Given the description of an element on the screen output the (x, y) to click on. 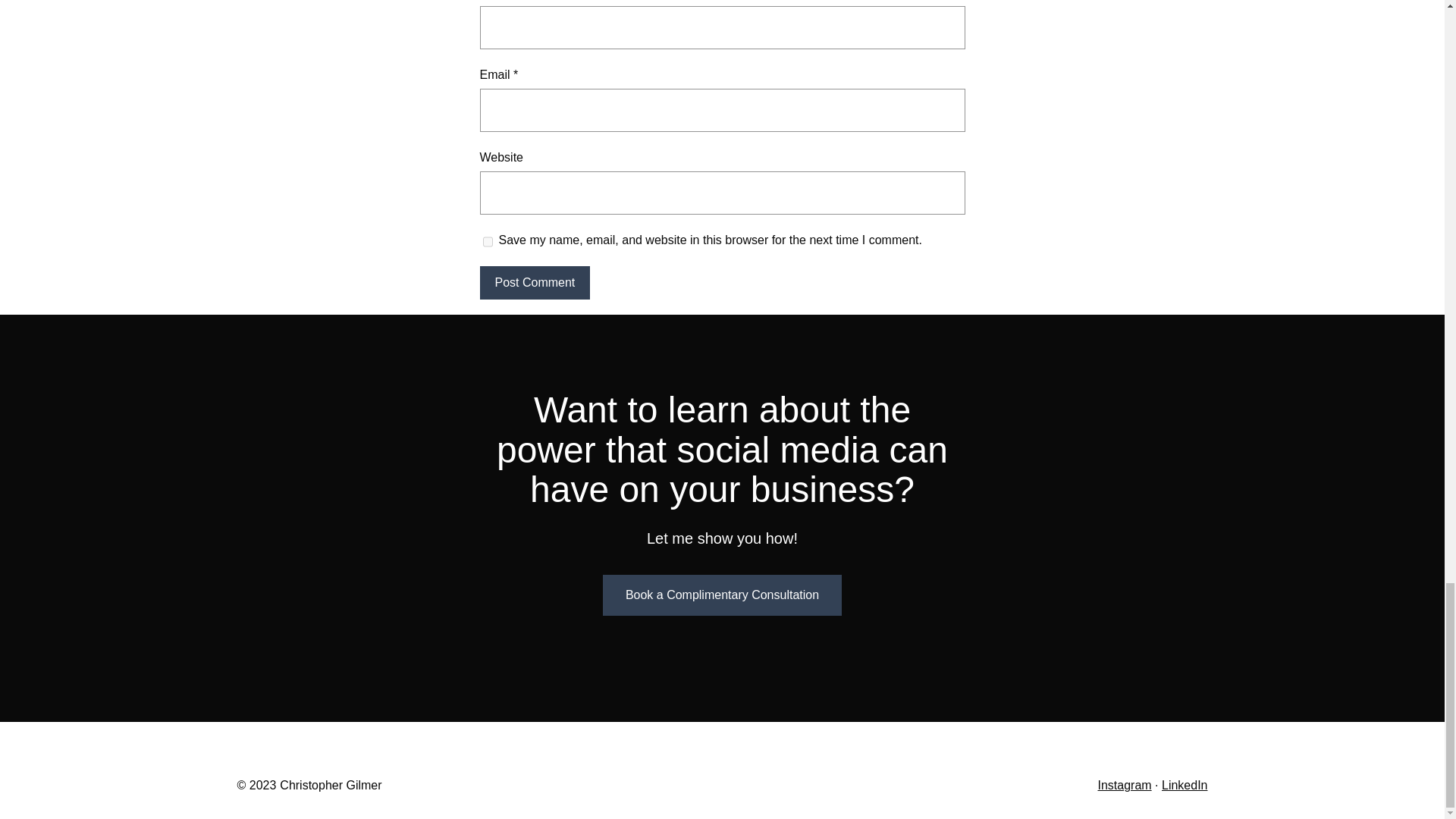
LinkedIn (1184, 784)
Instagram (1124, 784)
Book a Complimentary Consultation (721, 594)
Post Comment (534, 282)
Post Comment (534, 282)
